Given the description of an element on the screen output the (x, y) to click on. 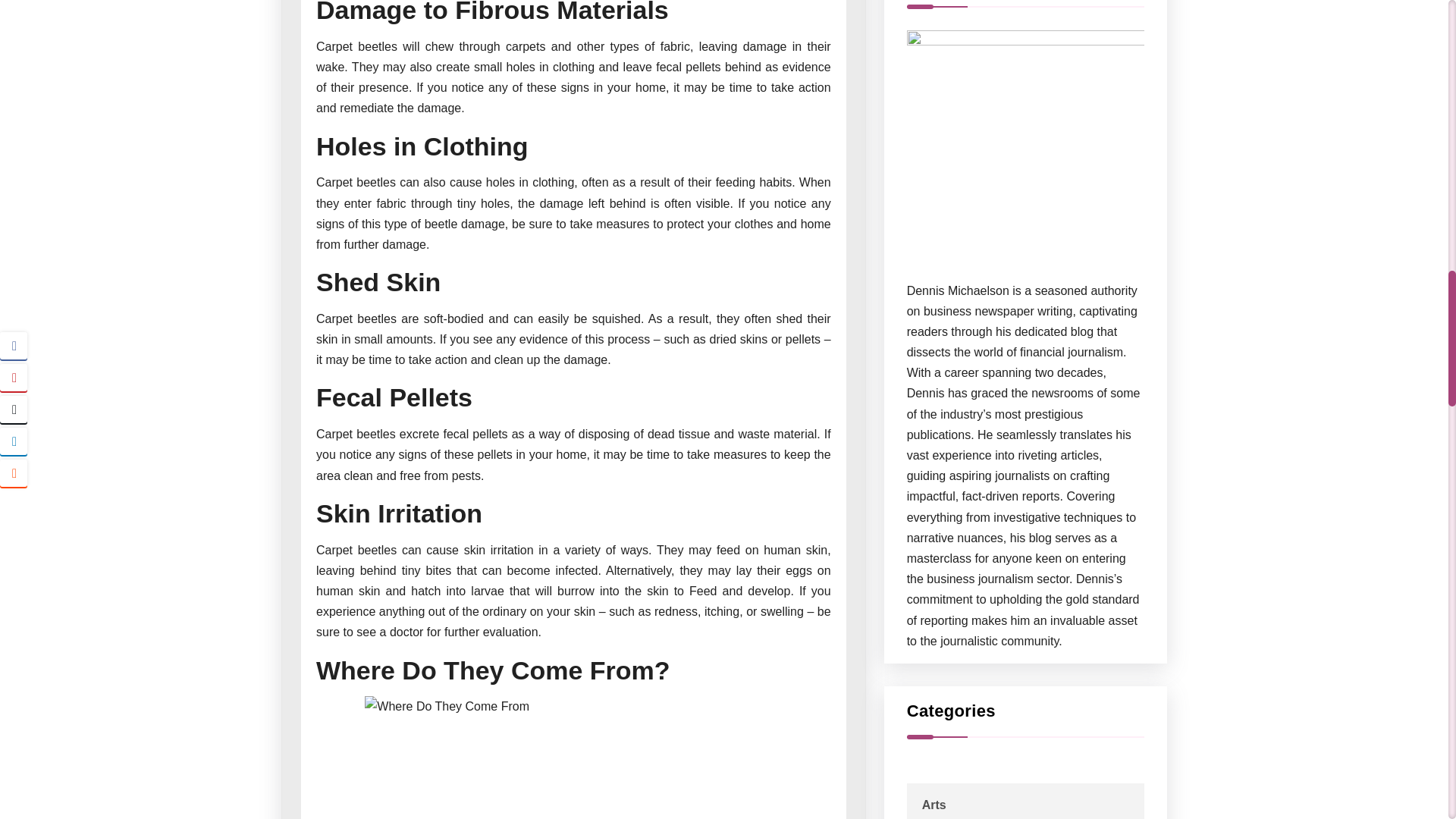
Arts (933, 804)
